Given the description of an element on the screen output the (x, y) to click on. 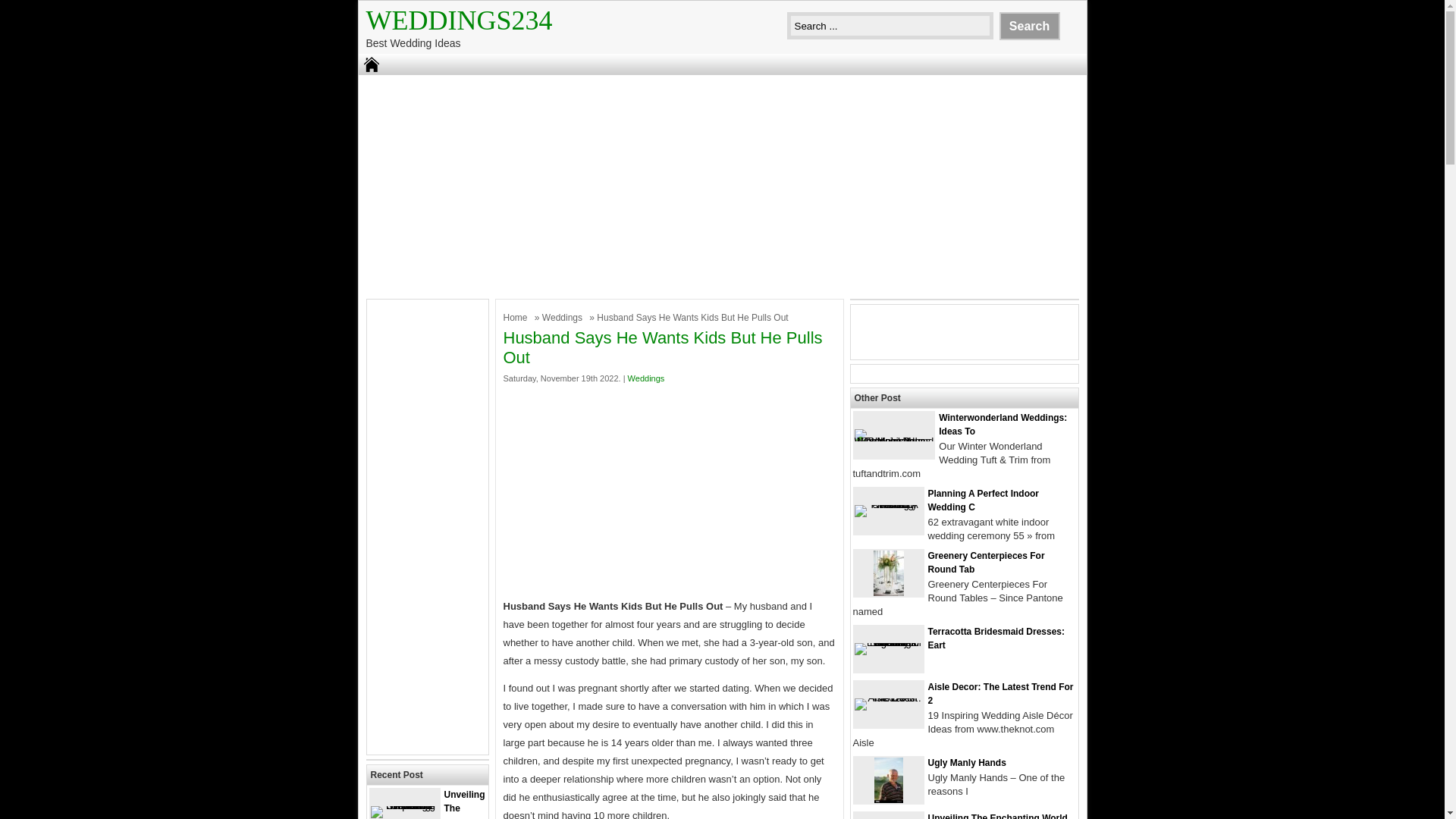
Weddings (563, 317)
Weddings (646, 378)
Advertisement (669, 490)
Home (517, 317)
Search (1028, 26)
Weddings234 (458, 20)
Search (1028, 26)
Unveiling the Enchanting World of Serpentine Table Weddings (403, 805)
Search ...  (889, 25)
Weddings (563, 317)
Unveiling The Enchanting World Of S (426, 804)
WEDDINGS234 (458, 20)
